Given the description of an element on the screen output the (x, y) to click on. 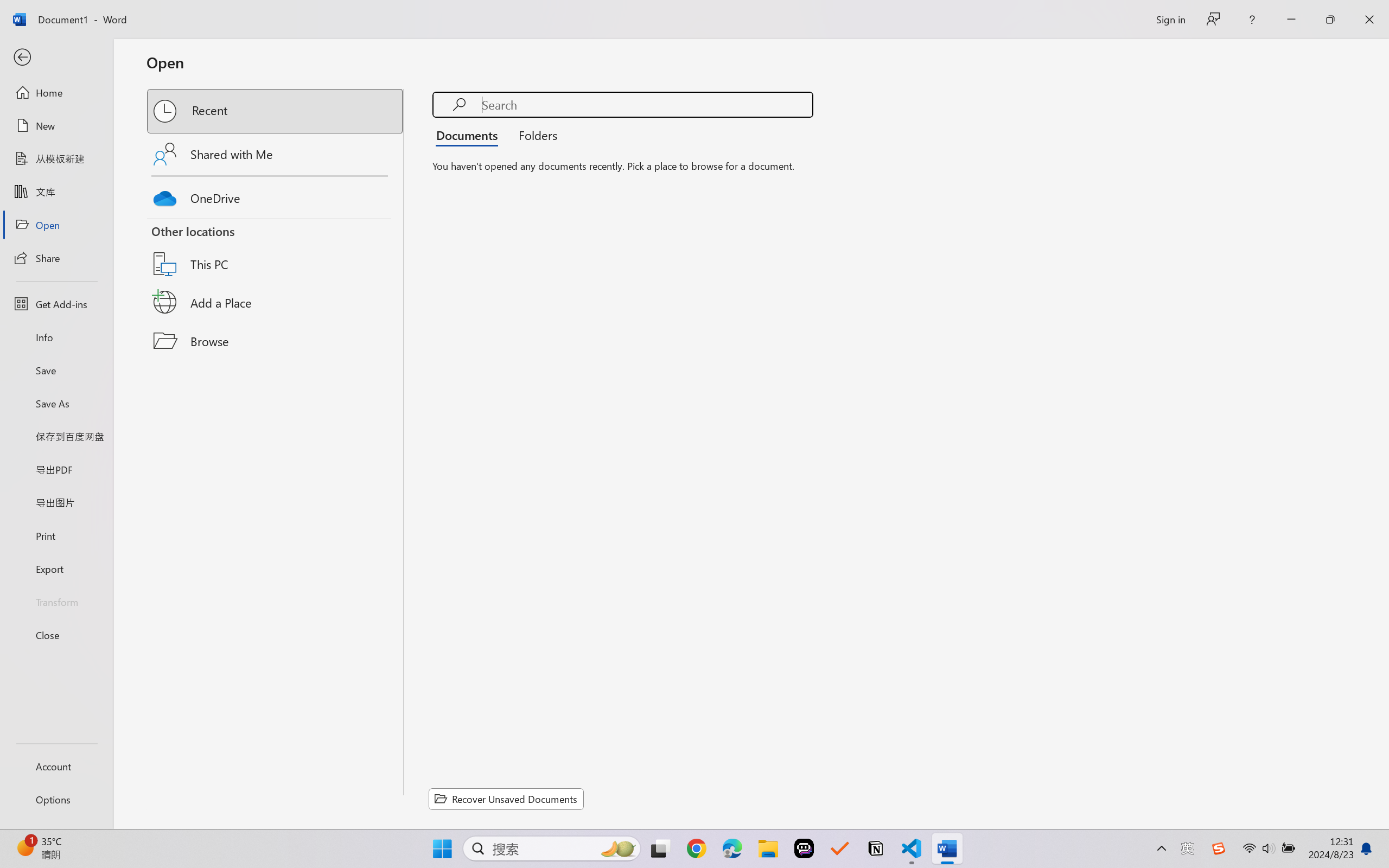
OneDrive (275, 195)
Folders (534, 134)
Browse (275, 340)
This PC (275, 249)
Options (56, 798)
Save As (56, 403)
Documents (469, 134)
Info (56, 337)
